Given the description of an element on the screen output the (x, y) to click on. 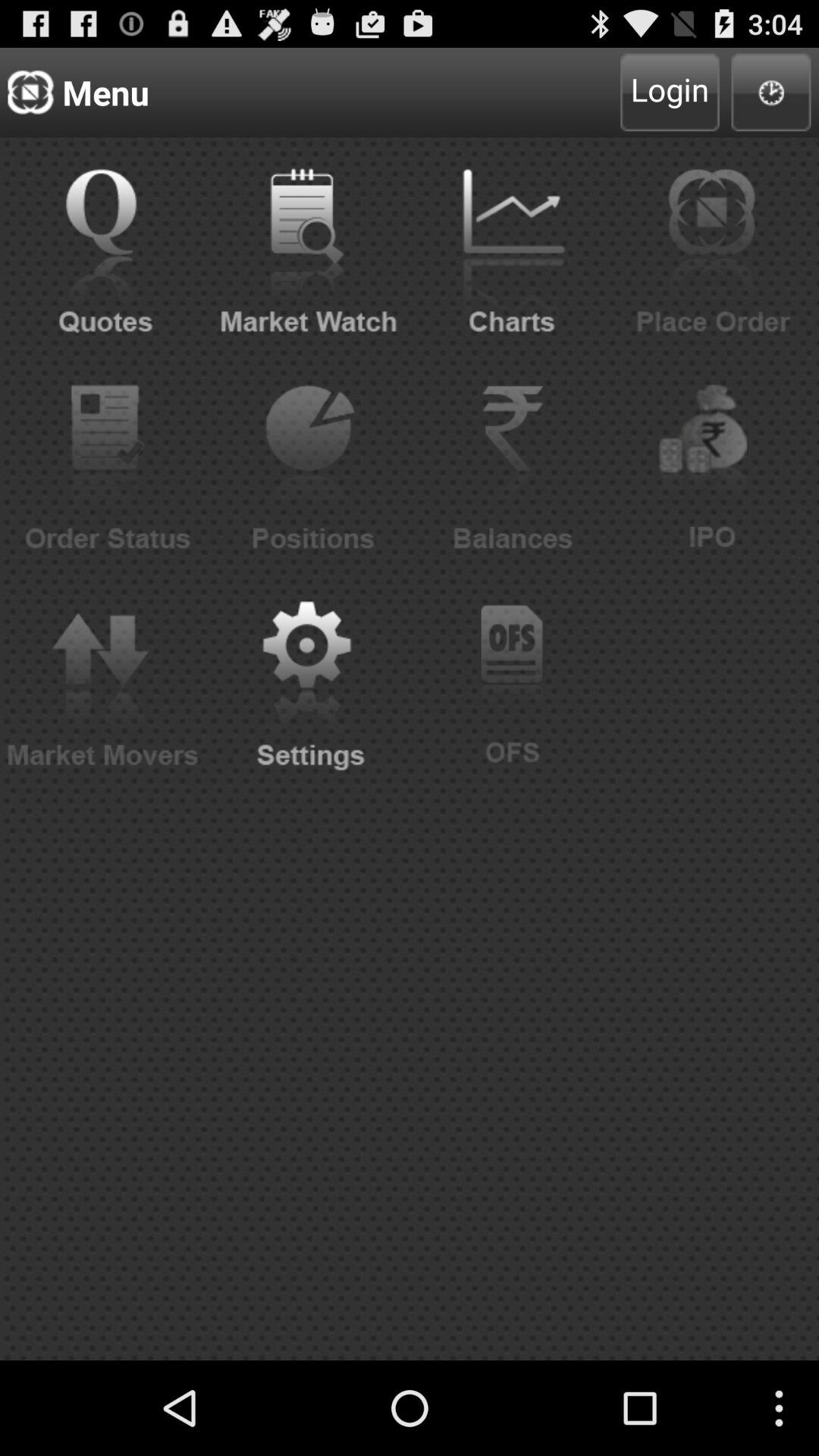
select the timer (771, 92)
